Given the description of an element on the screen output the (x, y) to click on. 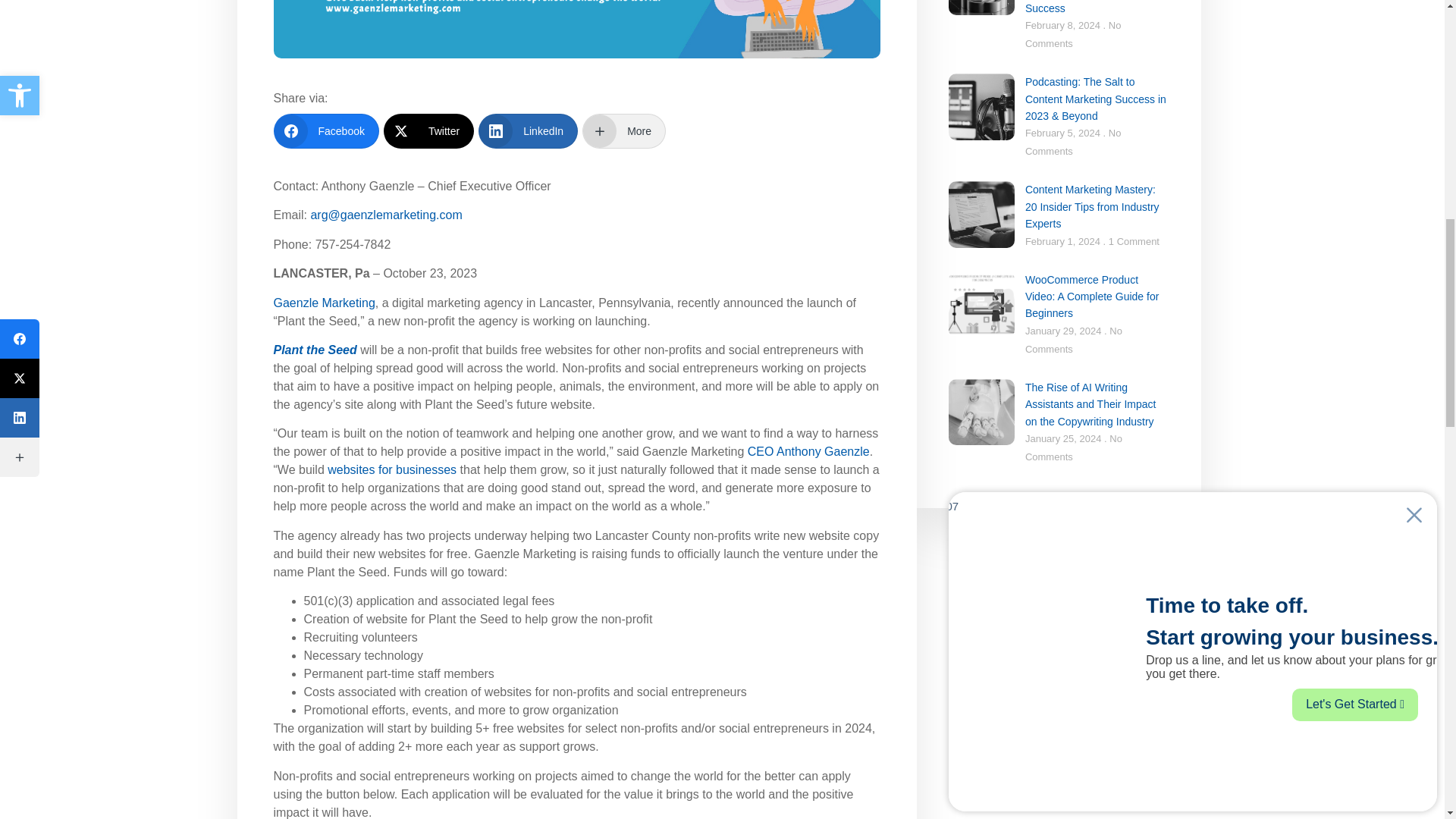
LinkedIn (528, 130)
More (623, 130)
Facebook (325, 130)
Twitter (429, 130)
